Given the description of an element on the screen output the (x, y) to click on. 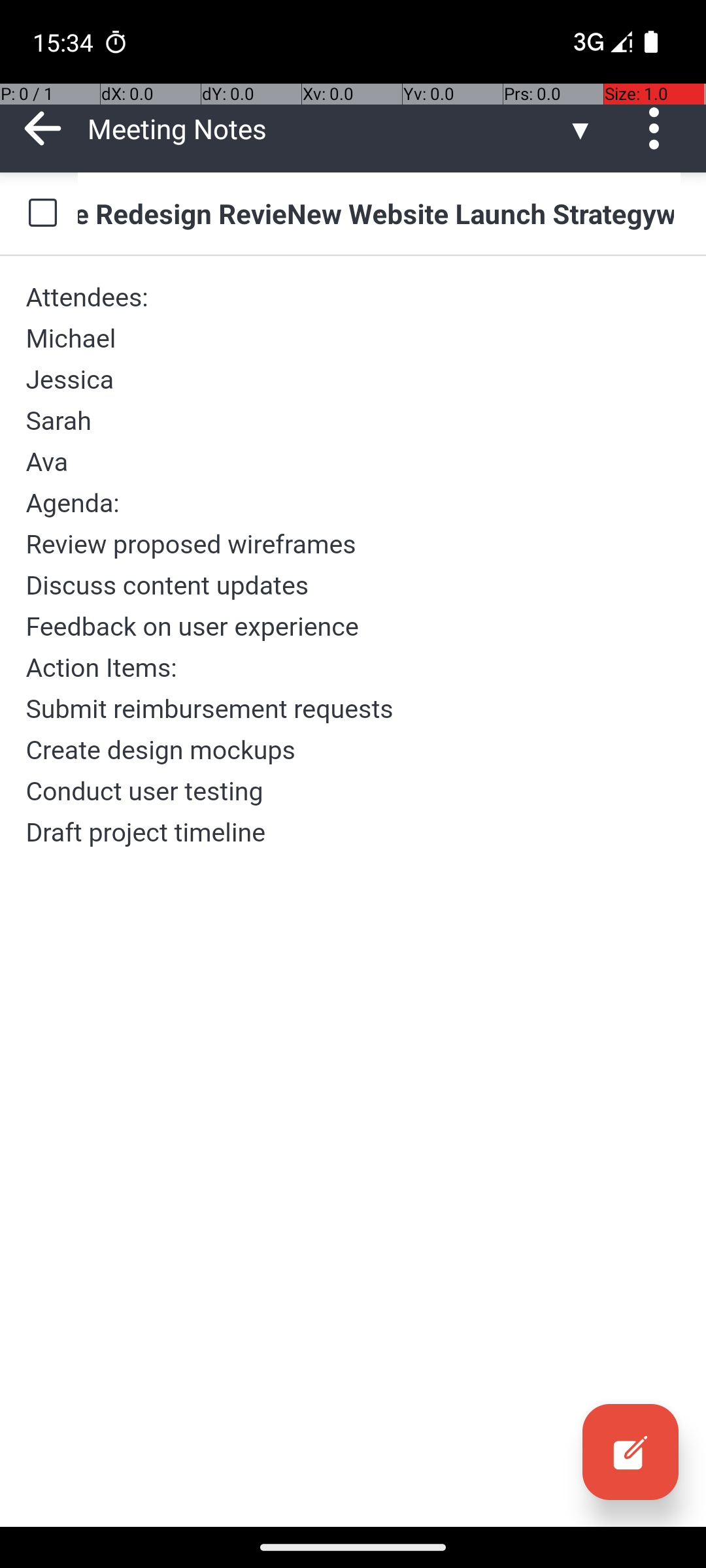
Website Redesign RevieNew Website Launch Strategyw Element type: android.widget.EditText (378, 213)
Attendees:
Michael
Jessica
Sarah
Ava
Agenda:
Review proposed wireframes
Discuss content updates
Feedback on user experience
Action Items:
Submit reimbursement requests
Create design mockups
Conduct user testing
Draft project timeline Element type: android.widget.TextView (352, 564)
